Given the description of an element on the screen output the (x, y) to click on. 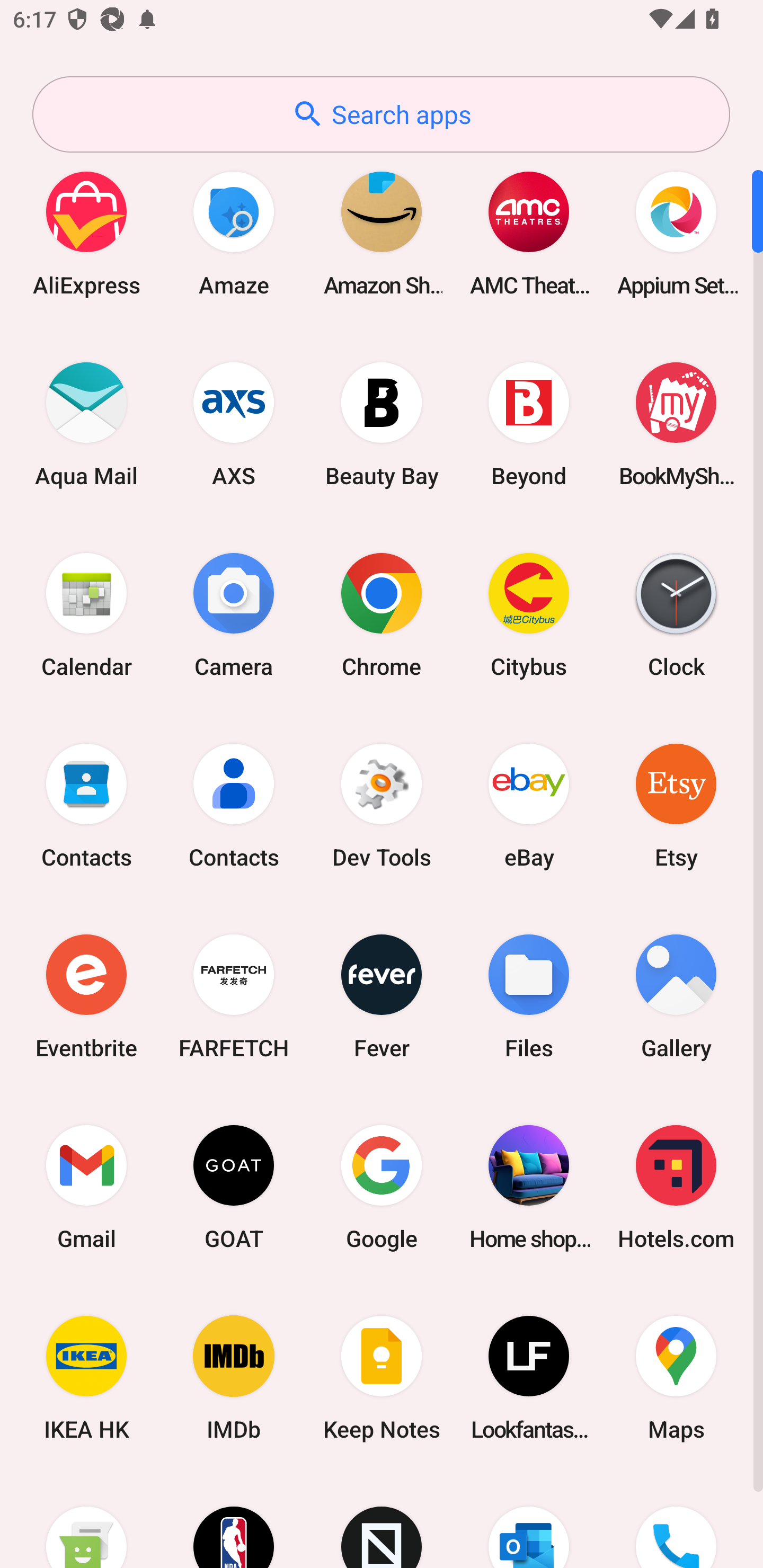
  Search apps (381, 114)
AliExpress (86, 233)
Amaze (233, 233)
Amazon Shopping (381, 233)
AMC Theatres (528, 233)
Appium Settings (676, 233)
Aqua Mail (86, 424)
AXS (233, 424)
Beauty Bay (381, 424)
Beyond (528, 424)
BookMyShow (676, 424)
Calendar (86, 614)
Camera (233, 614)
Chrome (381, 614)
Citybus (528, 614)
Clock (676, 614)
Contacts (86, 805)
Contacts (233, 805)
Dev Tools (381, 805)
eBay (528, 805)
Etsy (676, 805)
Eventbrite (86, 996)
FARFETCH (233, 996)
Fever (381, 996)
Files (528, 996)
Gallery (676, 996)
Gmail (86, 1186)
GOAT (233, 1186)
Google (381, 1186)
Home shopping (528, 1186)
Hotels.com (676, 1186)
IKEA HK (86, 1377)
IMDb (233, 1377)
Keep Notes (381, 1377)
Lookfantastic (528, 1377)
Maps (676, 1377)
